Given the description of an element on the screen output the (x, y) to click on. 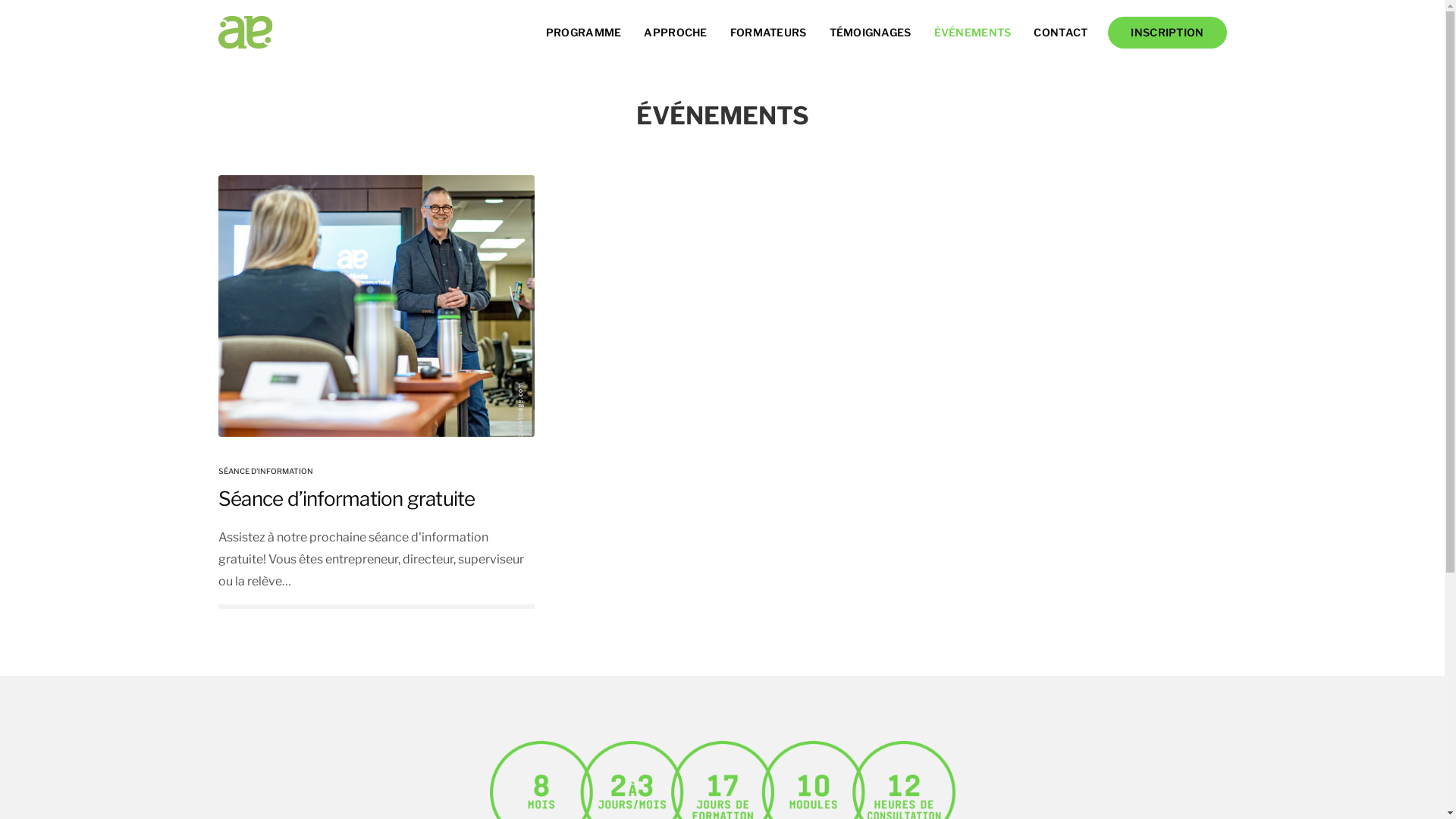
PROGRAMME Element type: text (583, 32)
INSCRIPTION Element type: text (1166, 32)
FORMATEURS Element type: text (768, 32)
APPROCHE Element type: text (674, 32)
CONTACT Element type: text (1060, 32)
